Given the description of an element on the screen output the (x, y) to click on. 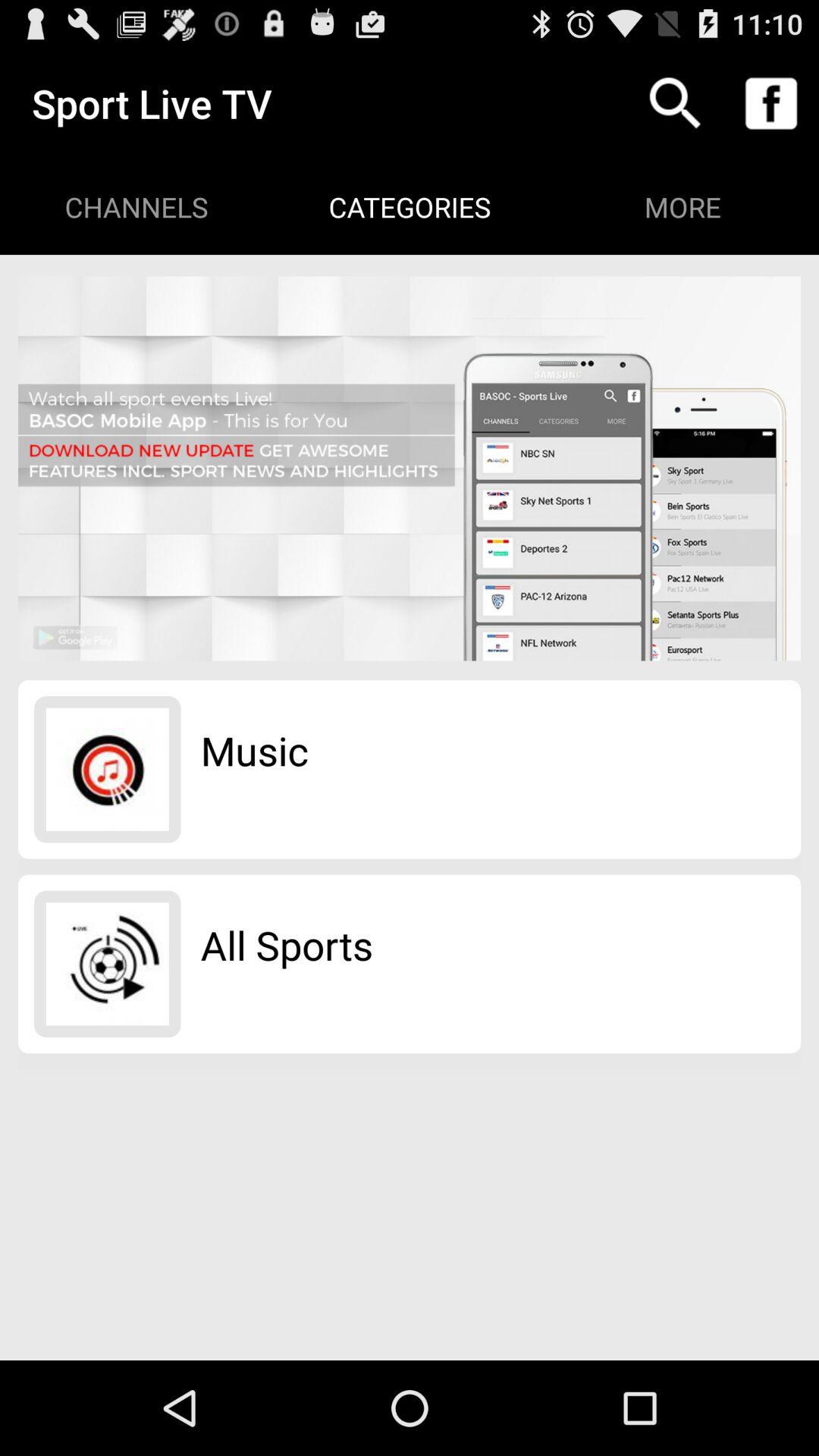
swipe until all sports icon (286, 944)
